Given the description of an element on the screen output the (x, y) to click on. 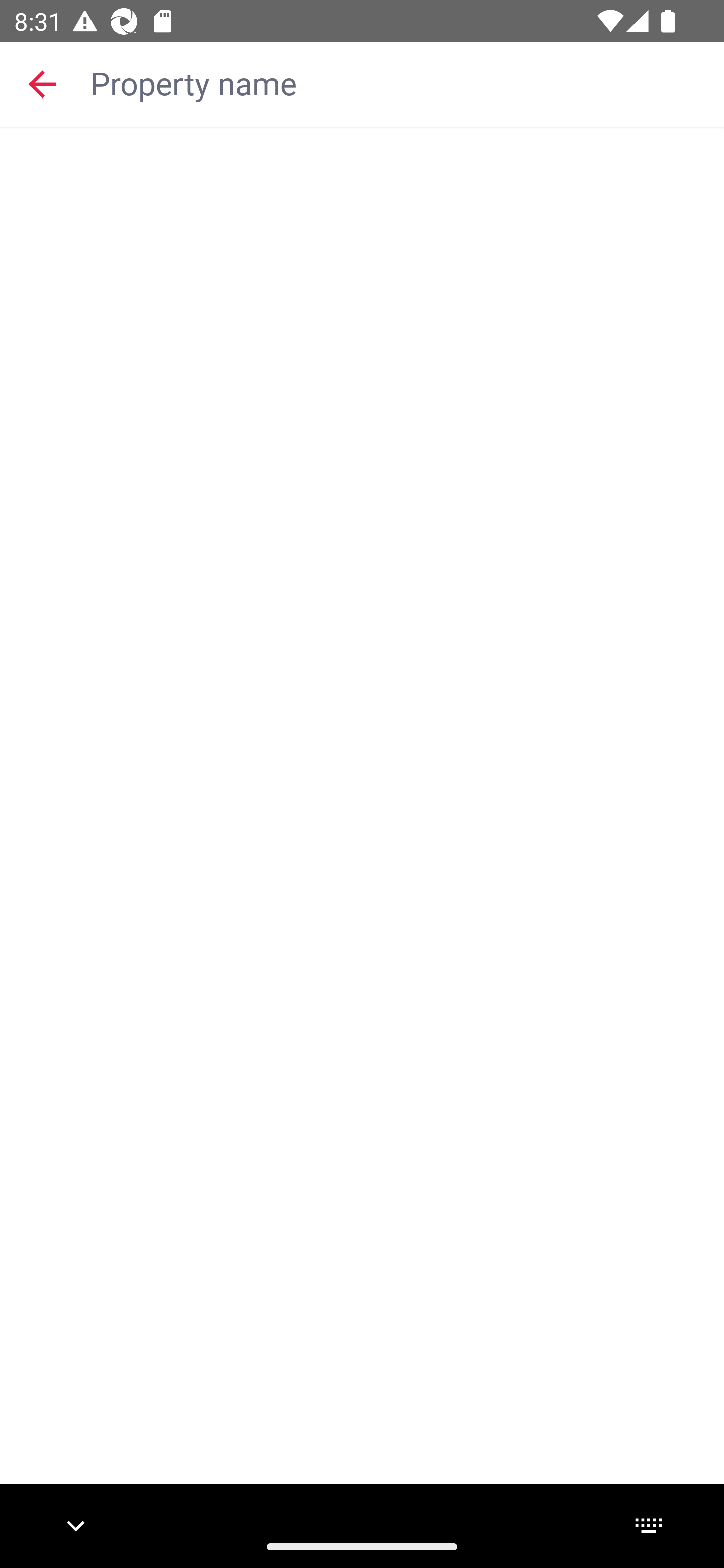
Property name,  (397, 82)
Back to search screen (41, 83)
